Given the description of an element on the screen output the (x, y) to click on. 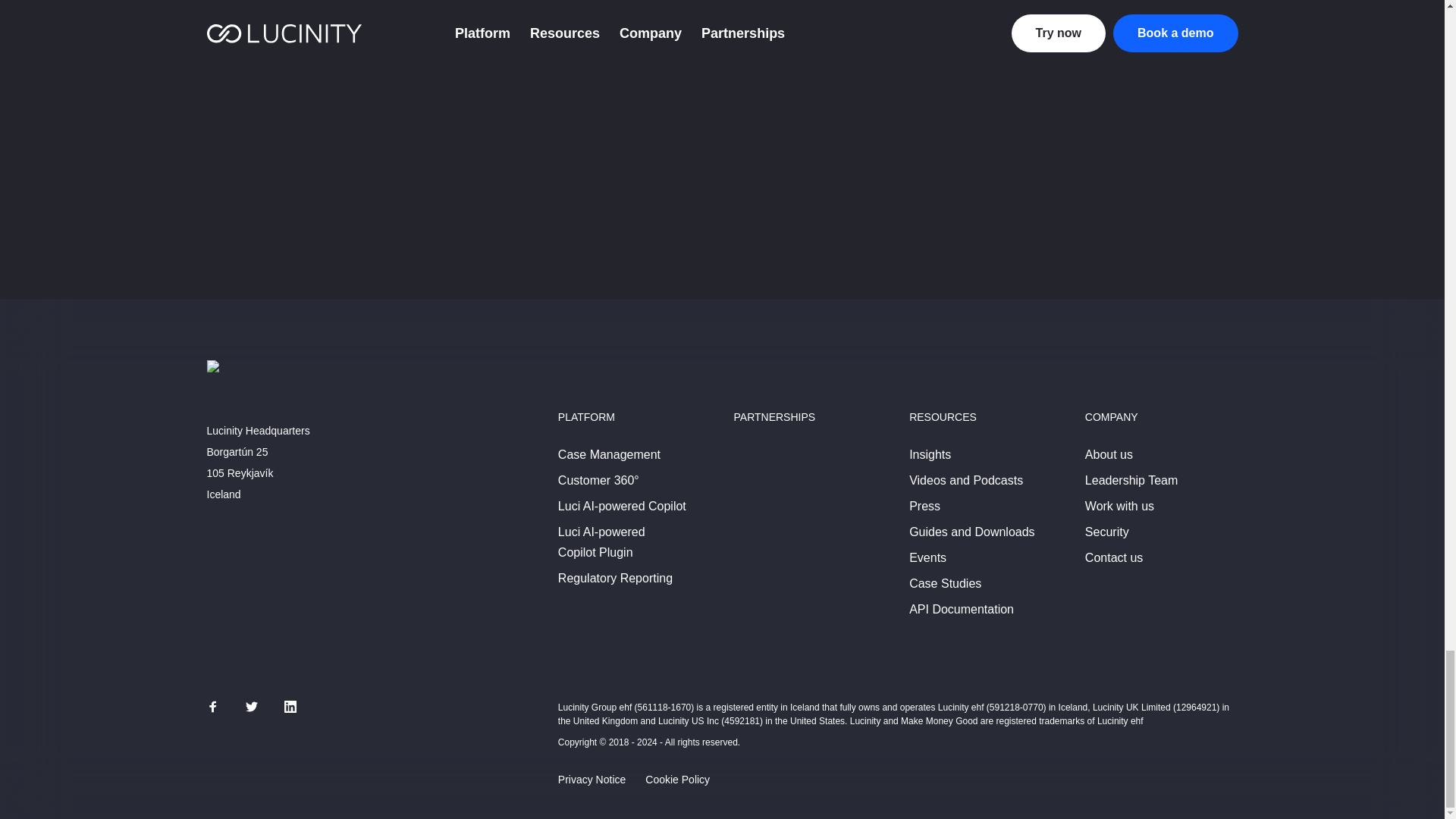
Guides and Downloads (970, 531)
Leadership Team (1130, 480)
About us (1108, 454)
Regulatory Reporting (614, 578)
Videos and Podcasts (965, 480)
Luci AI-powered Copilot (621, 506)
Luci AI-powered Copilot Plugin (601, 542)
Case Studies (944, 583)
Press (924, 506)
API Documentation (960, 609)
Work with us (1119, 506)
Events (927, 558)
Insights (929, 454)
Case Management (609, 454)
